Given the description of an element on the screen output the (x, y) to click on. 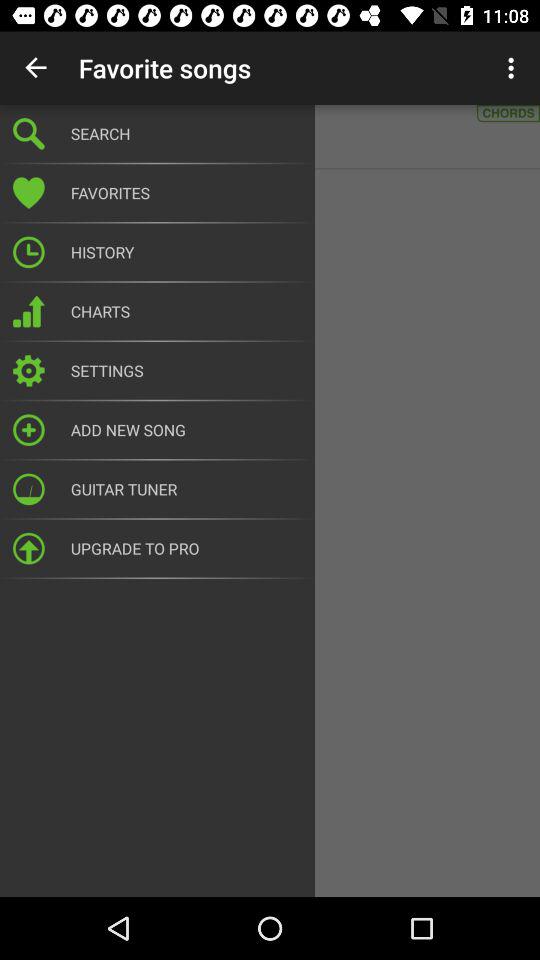
choose the item above the a ha minor (36, 68)
